Given the description of an element on the screen output the (x, y) to click on. 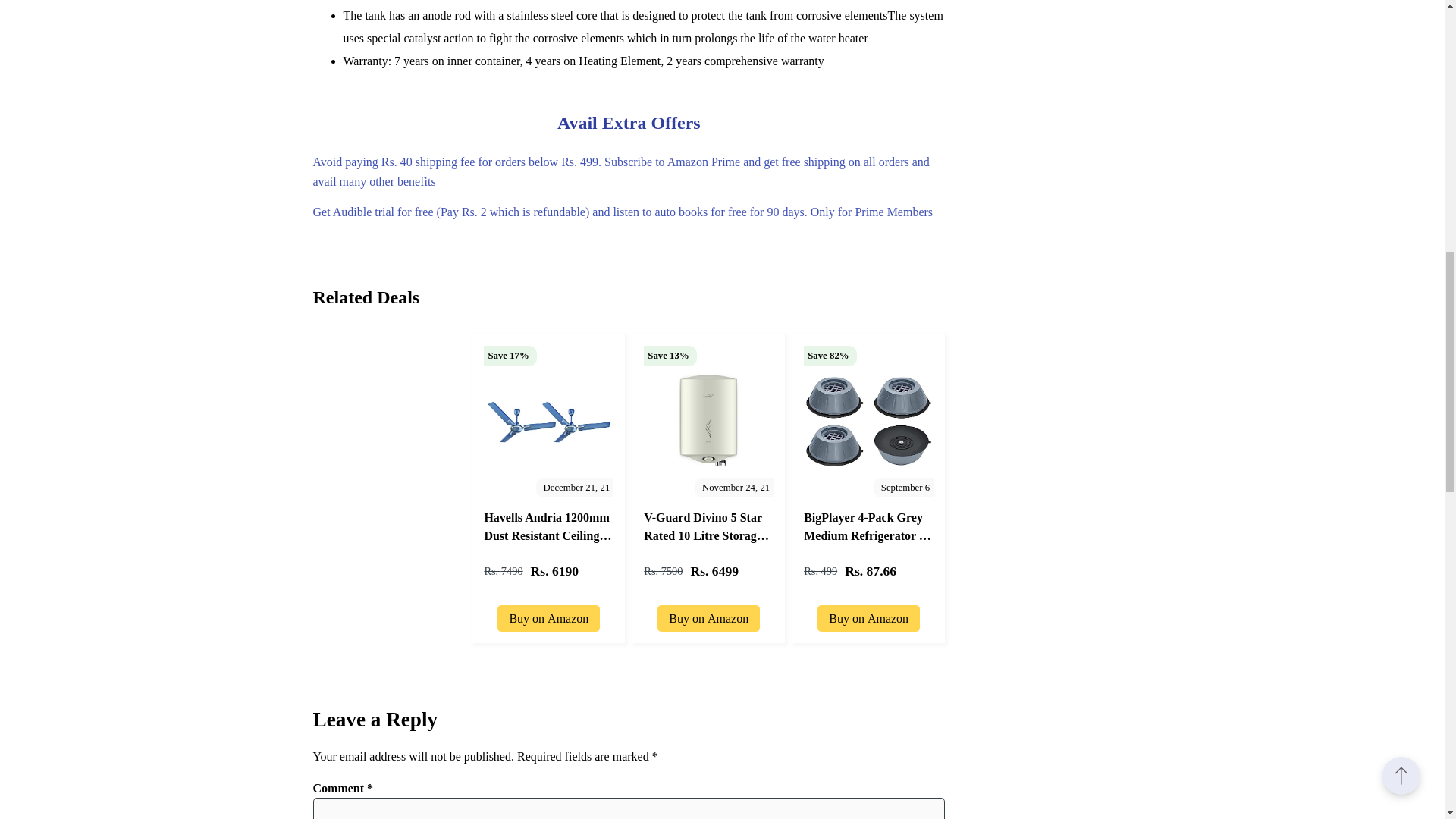
Buy on Amazon (709, 614)
Buy on Amazon (868, 614)
Buy on Amazon (548, 614)
